Given the description of an element on the screen output the (x, y) to click on. 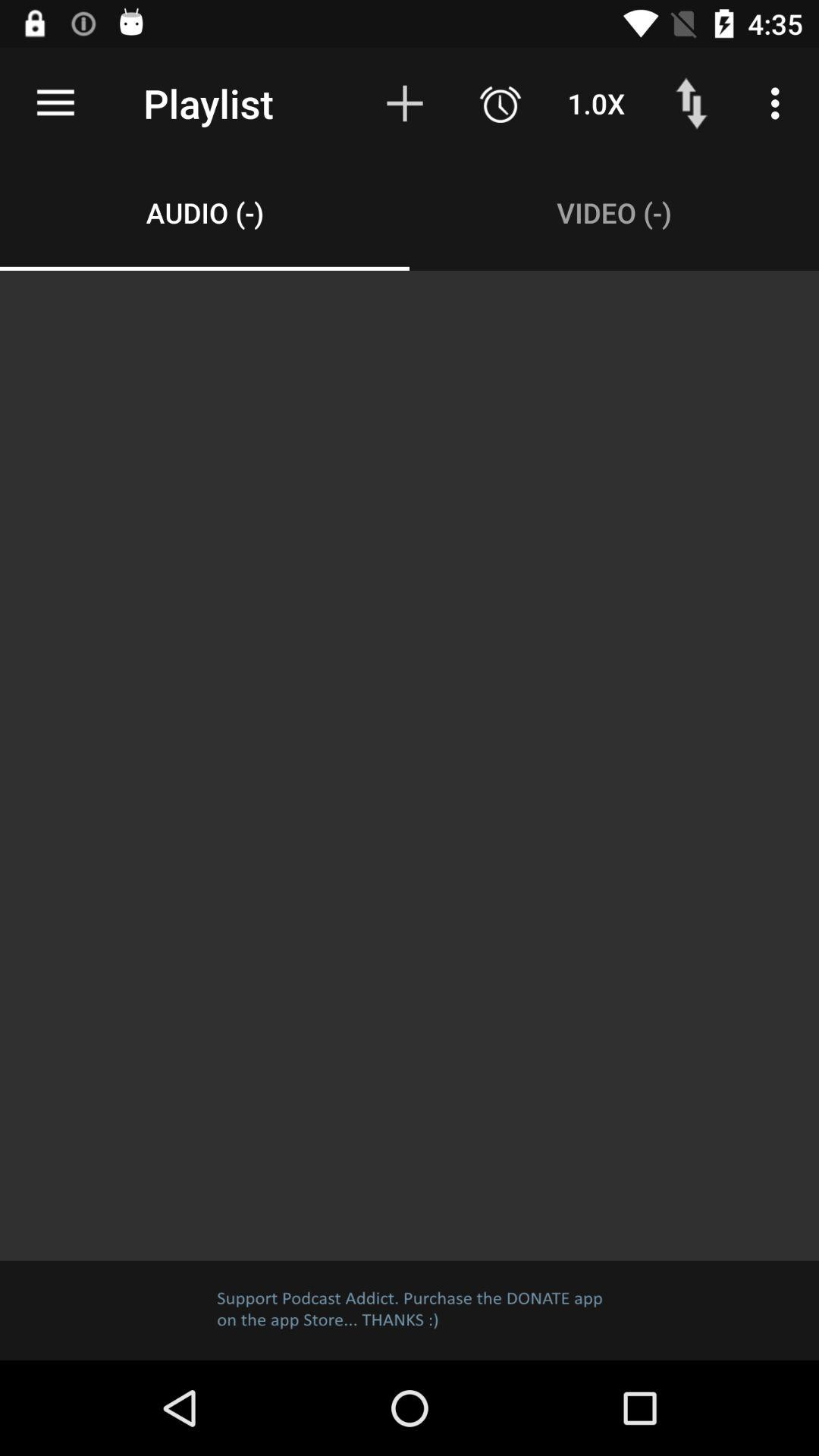
click item below audio (-) item (409, 765)
